Given the description of an element on the screen output the (x, y) to click on. 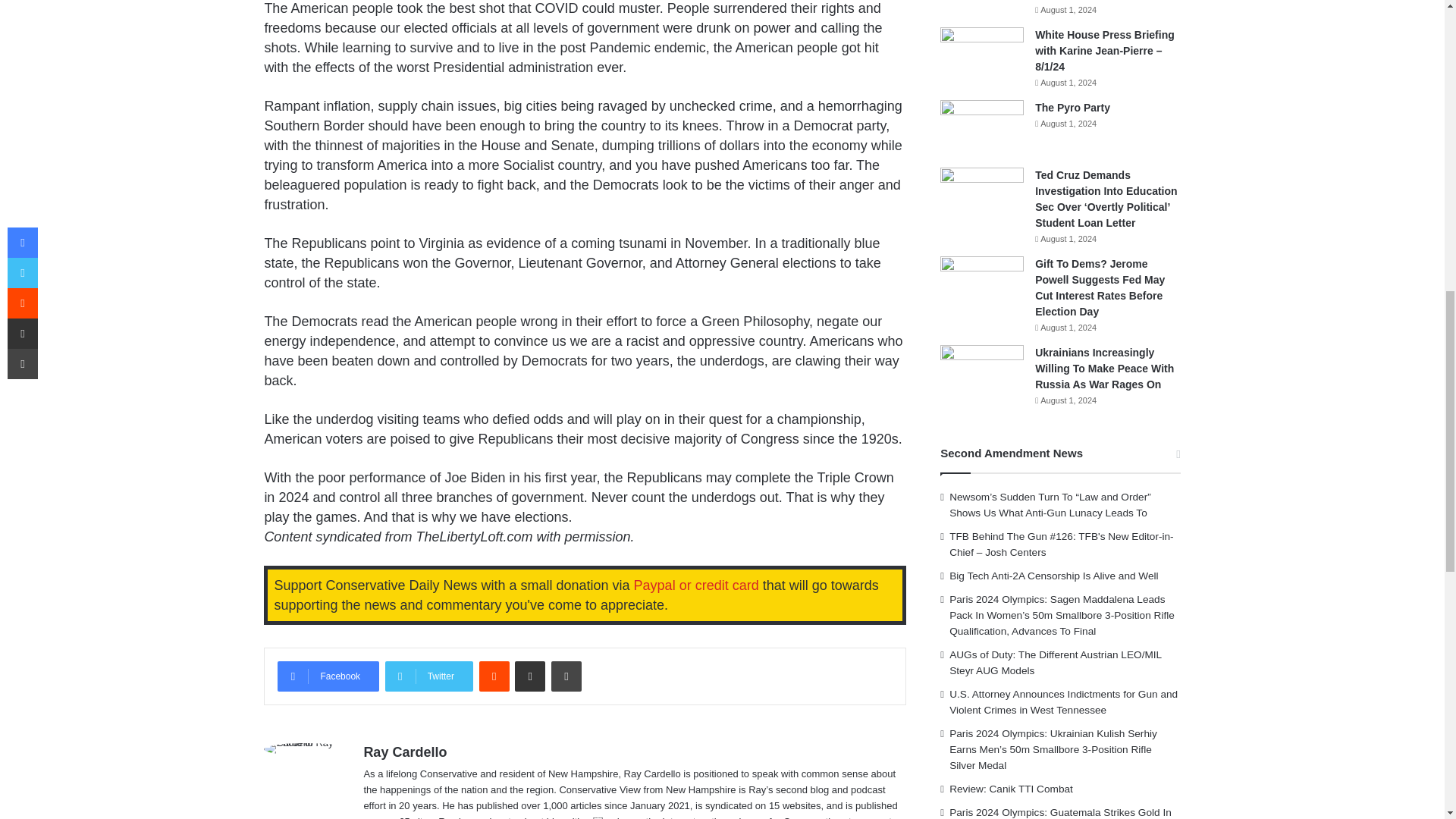
Facebook (328, 675)
Reddit (494, 675)
Share via Email (529, 675)
Twitter (429, 675)
